Given the description of an element on the screen output the (x, y) to click on. 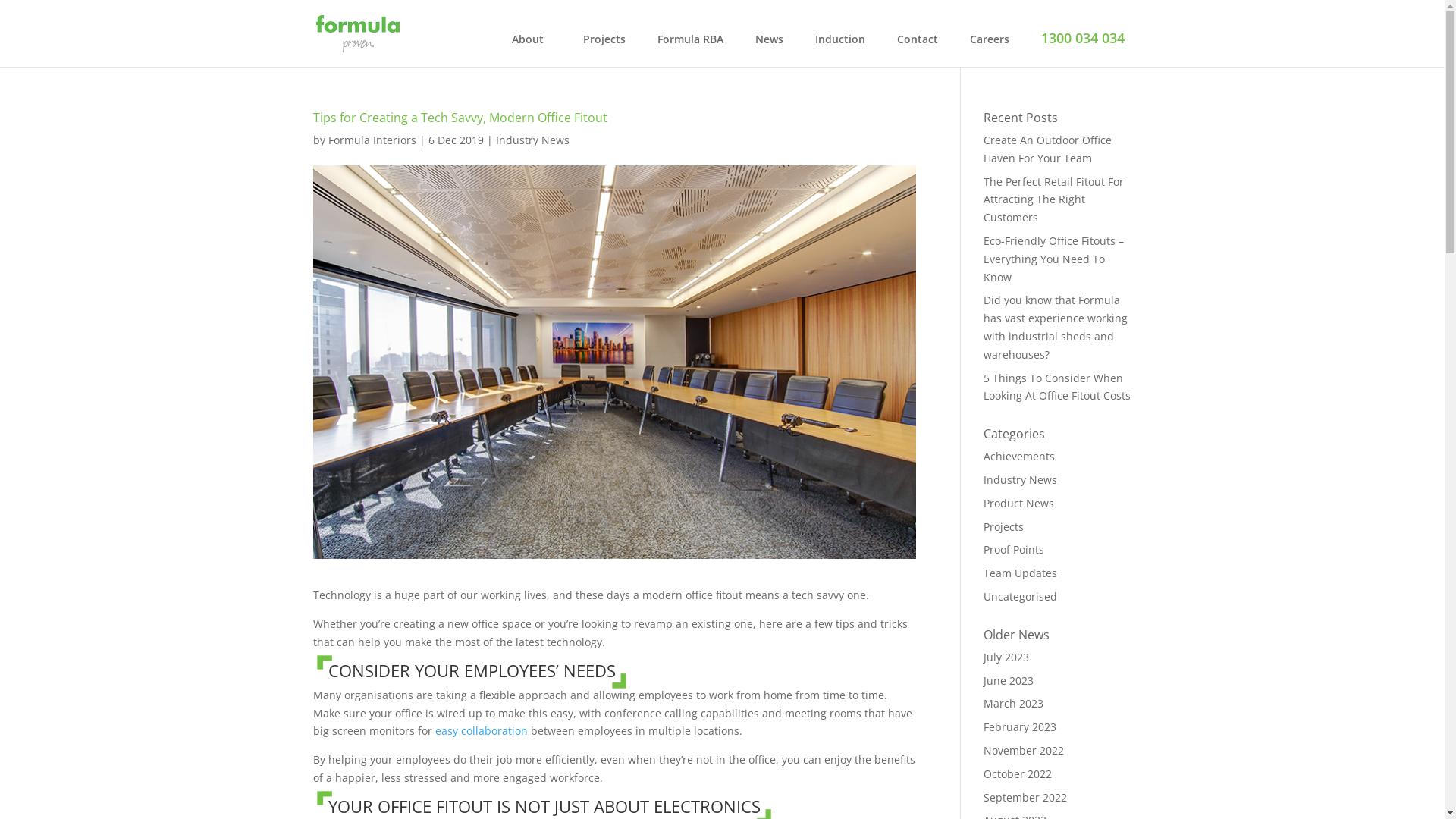
About Element type: text (530, 46)
September 2022 Element type: text (1024, 797)
Create An Outdoor Office Haven For Your Team Element type: text (1047, 148)
Uncategorised Element type: text (1020, 596)
News Element type: text (768, 46)
Team Updates Element type: text (1020, 572)
Formula RBA Element type: text (689, 46)
Projects Element type: text (1003, 526)
July 2023 Element type: text (1006, 656)
March 2023 Element type: text (1013, 703)
Proof Points Element type: text (1013, 549)
November 2022 Element type: text (1023, 750)
October 2022 Element type: text (1017, 773)
Induction Element type: text (839, 46)
Careers Element type: text (988, 46)
June 2023 Element type: text (1008, 680)
5 Things To Consider When Looking At Office Fitout Costs Element type: text (1056, 386)
Formula Interiors Element type: text (371, 139)
Achievements Element type: text (1018, 455)
Contact Element type: text (916, 46)
The Perfect Retail Fitout For Attracting The Right Customers Element type: text (1053, 199)
easy collaboration Element type: text (481, 730)
Industry News Element type: text (1020, 479)
Product News Element type: text (1018, 502)
Industry News Element type: text (532, 139)
February 2023 Element type: text (1019, 726)
1300 034 034 Element type: text (1081, 45)
Projects Element type: text (603, 46)
